Given the description of an element on the screen output the (x, y) to click on. 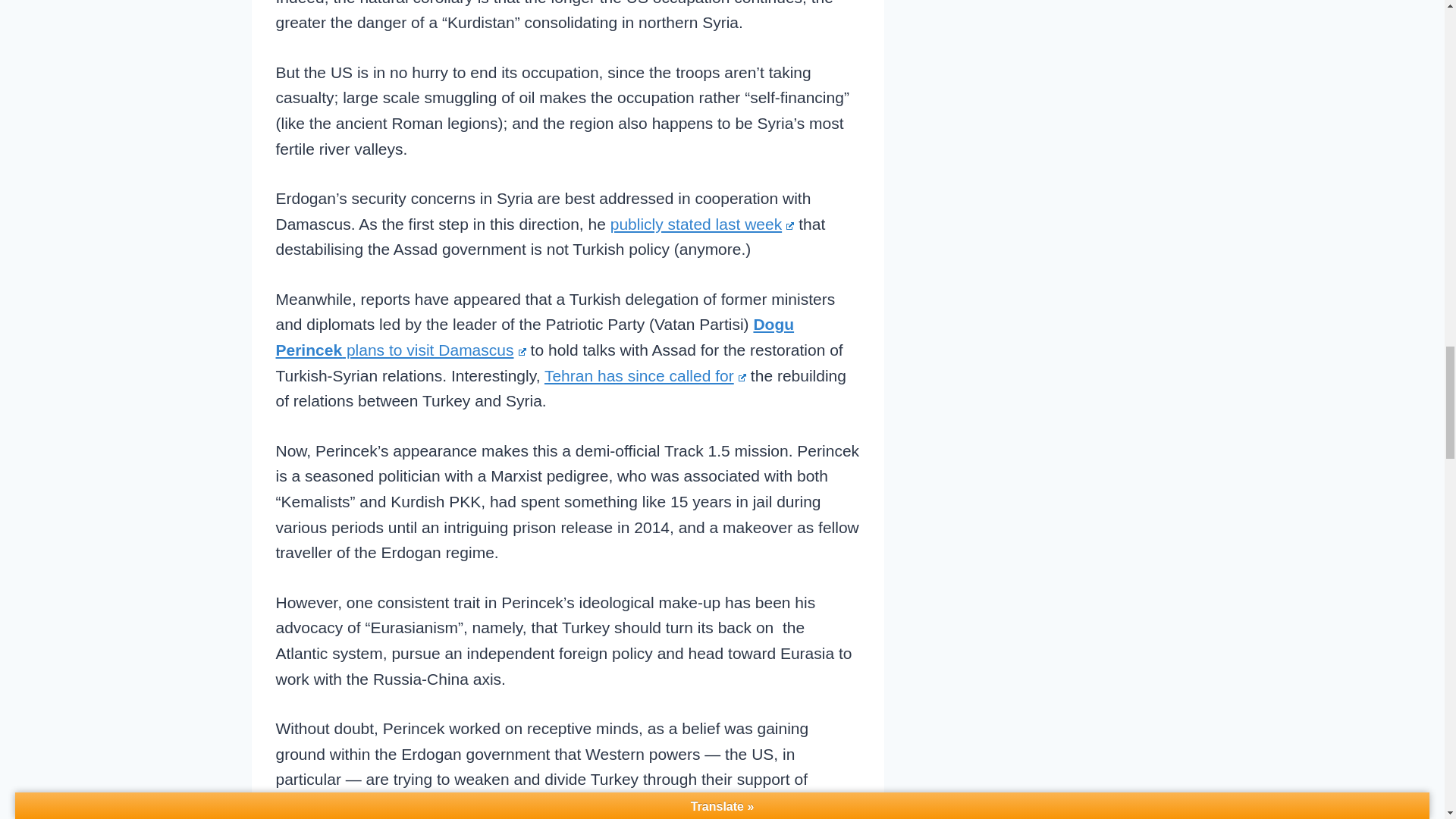
Tehran has since called for (644, 375)
Dogu Perincek plans to visit Damascus (535, 336)
publicly stated last week (702, 223)
